Given the description of an element on the screen output the (x, y) to click on. 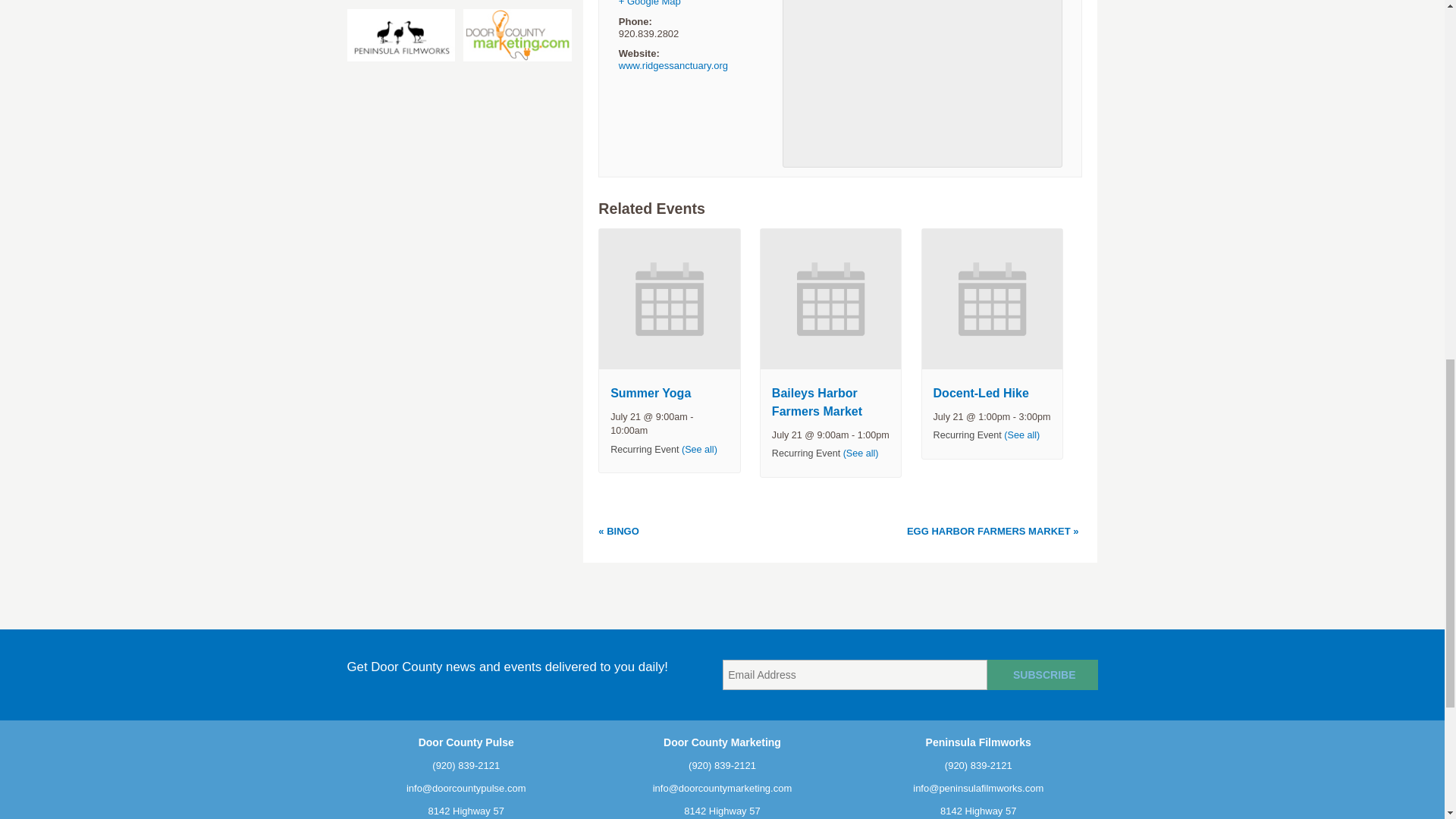
Click to view a Google Map (649, 3)
